Given the description of an element on the screen output the (x, y) to click on. 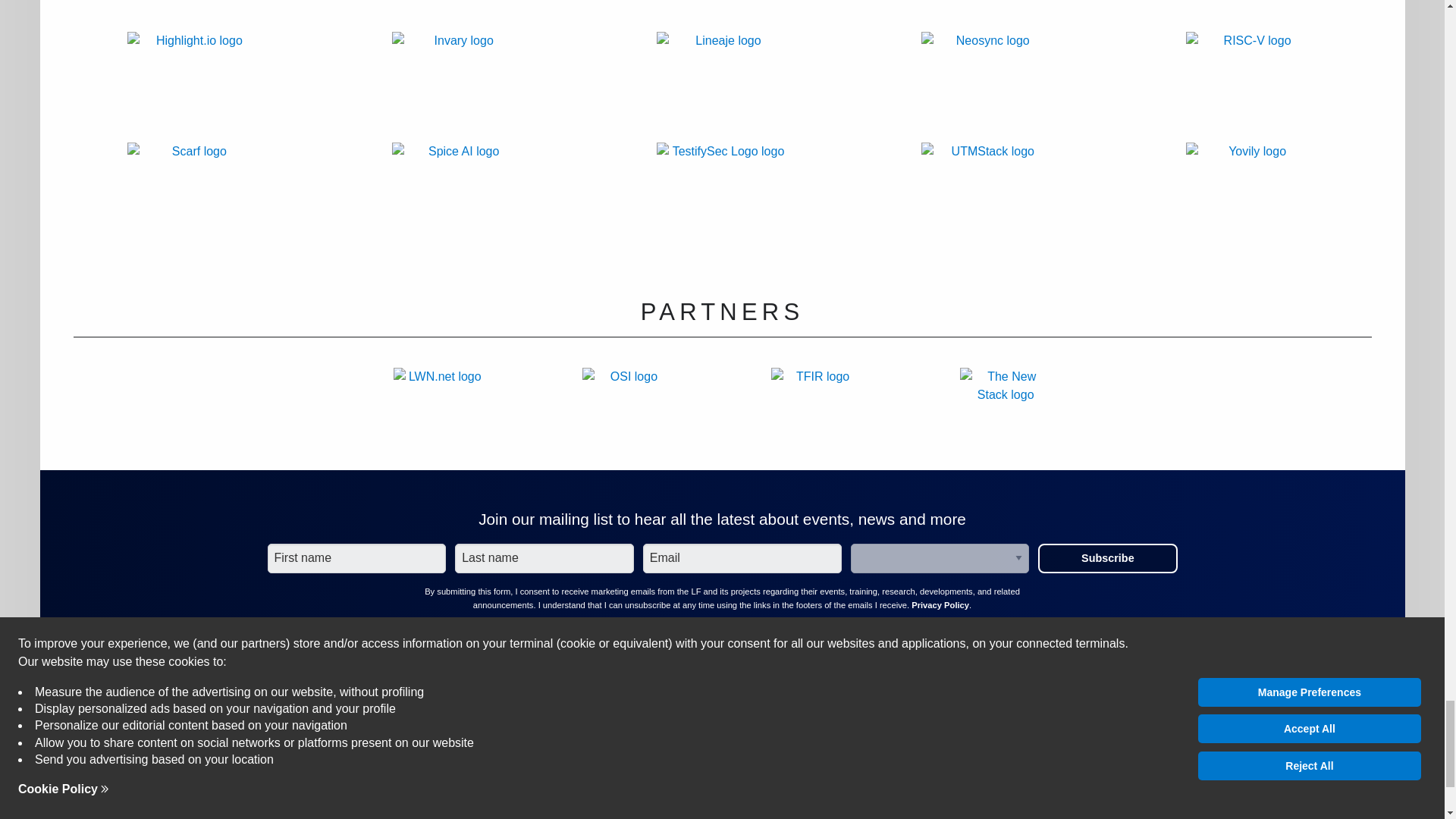
Subscribe (1107, 558)
